Given the description of an element on the screen output the (x, y) to click on. 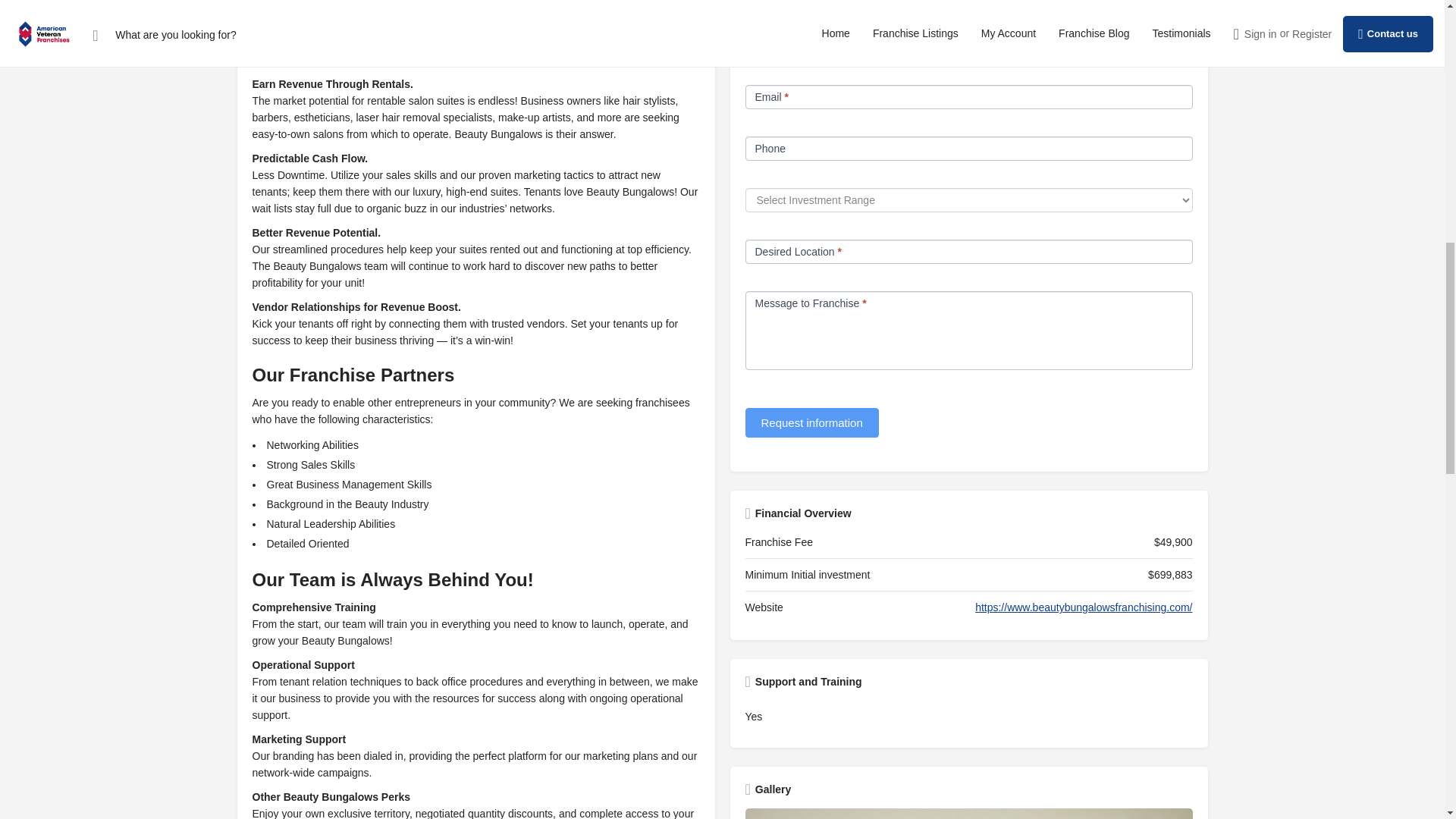
Request information (810, 422)
